Given the description of an element on the screen output the (x, y) to click on. 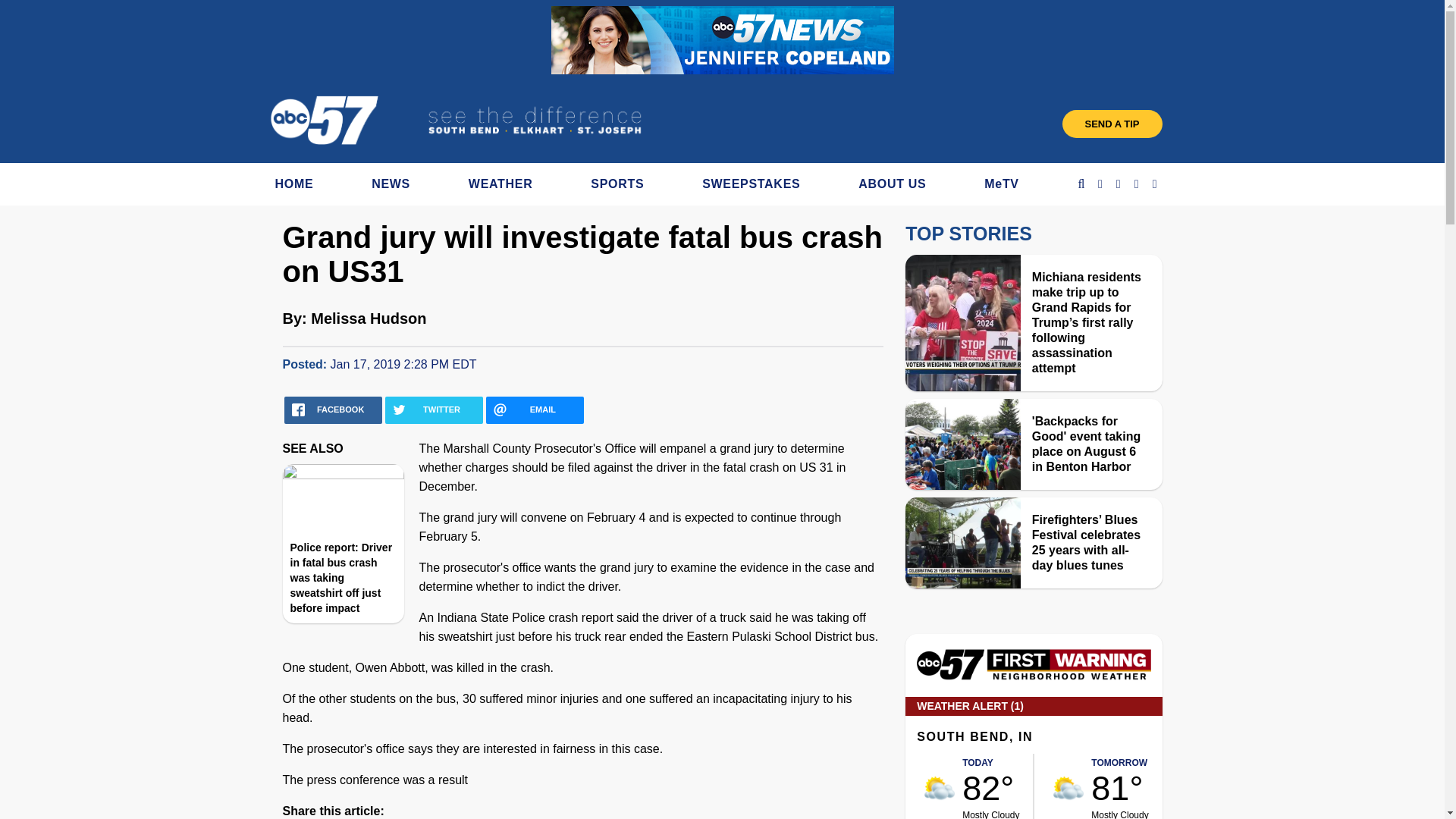
Weather (1033, 675)
weather (1067, 788)
weather (939, 788)
